Given the description of an element on the screen output the (x, y) to click on. 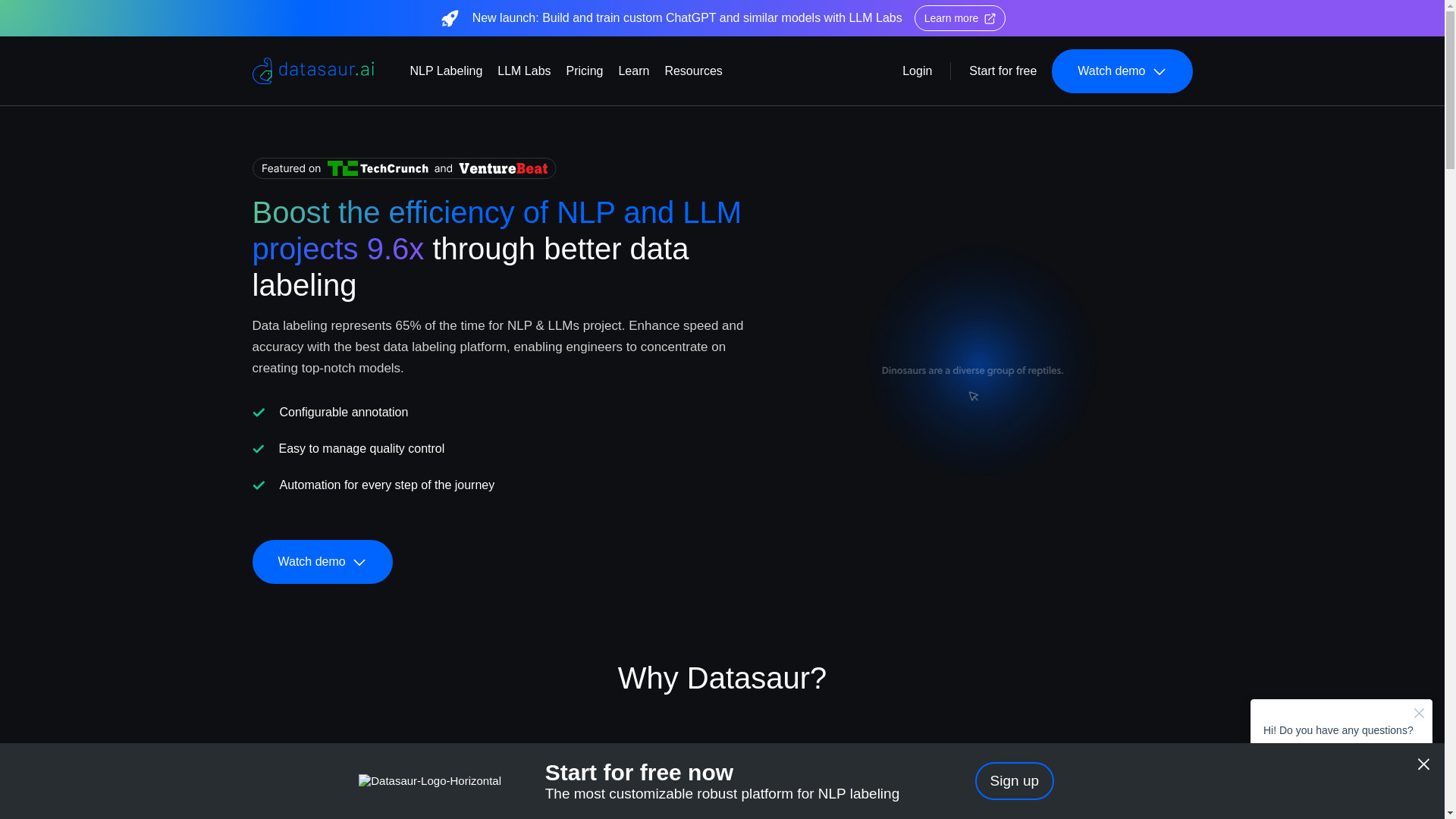
Pricing (585, 70)
Learn more (960, 17)
